Given the description of an element on the screen output the (x, y) to click on. 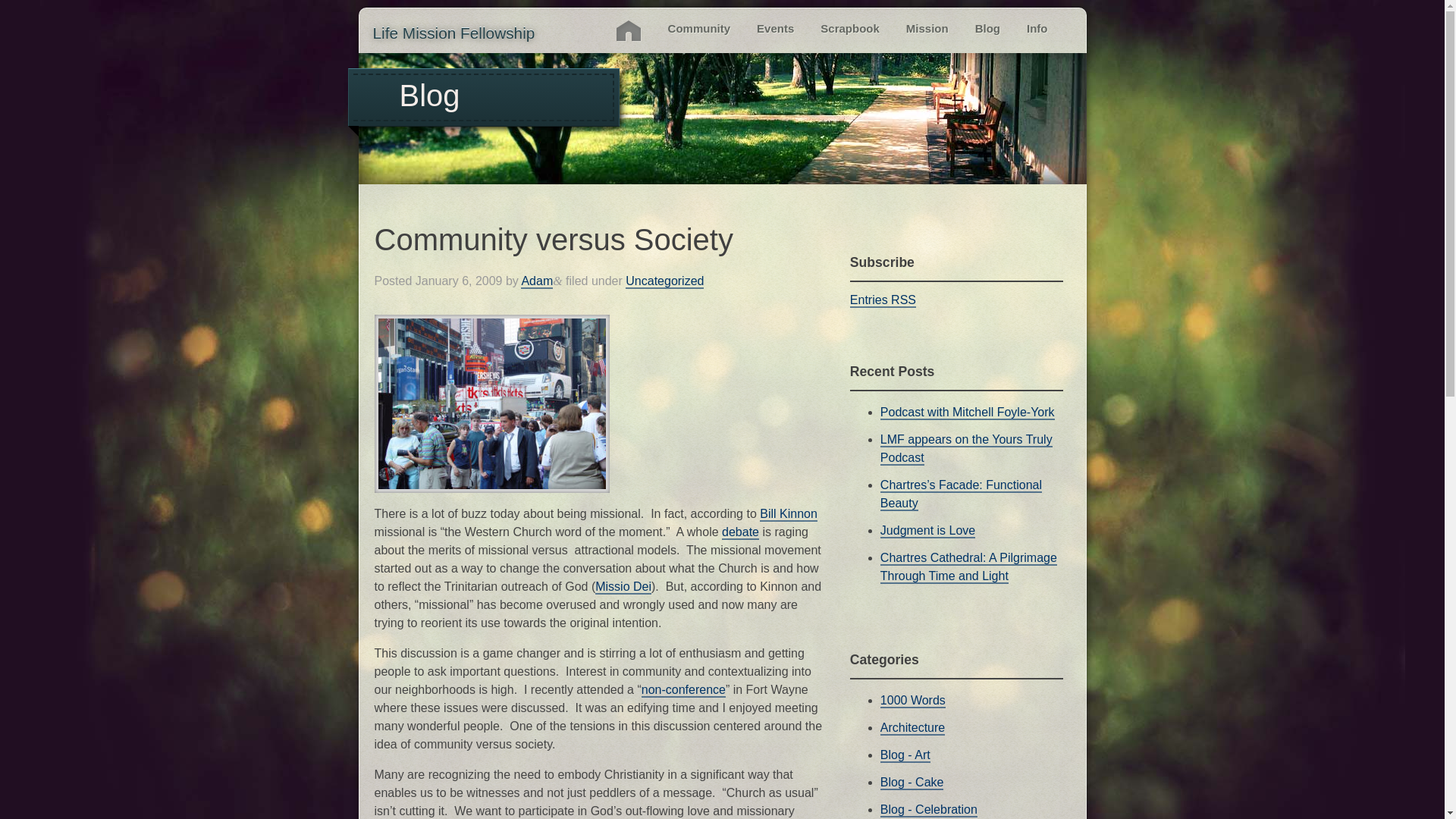
Blog - Cake (911, 782)
timesquare (492, 403)
Syndicate this site using RSS 2.0 (882, 300)
Posts by Adam (537, 281)
Entries RSS (882, 300)
debate (740, 532)
Blog - Celebration (928, 810)
Mission (927, 27)
Info (1037, 27)
Missio Dei (622, 586)
Uncategorized (664, 281)
Blog (987, 27)
Architecture (912, 728)
Scrapbook (850, 27)
Adam (537, 281)
